Given the description of an element on the screen output the (x, y) to click on. 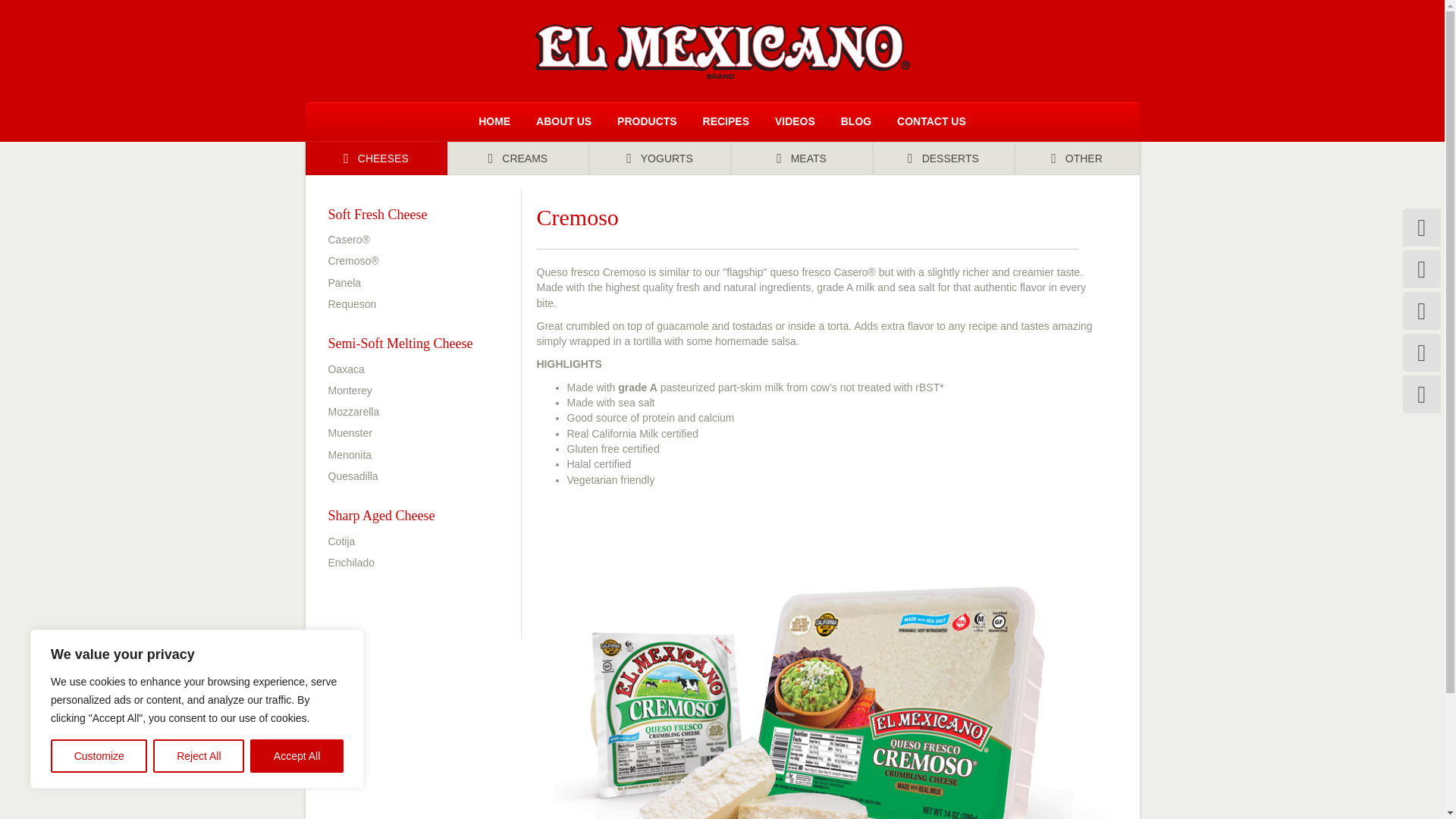
MEATS (801, 158)
HOME (494, 121)
Reject All (198, 756)
CONTACT US (930, 121)
YOGURTS (659, 158)
OTHER (1077, 158)
RECIPES (725, 121)
PRODUCTS (646, 121)
BLOG (855, 121)
CHEESES (375, 158)
